Given the description of an element on the screen output the (x, y) to click on. 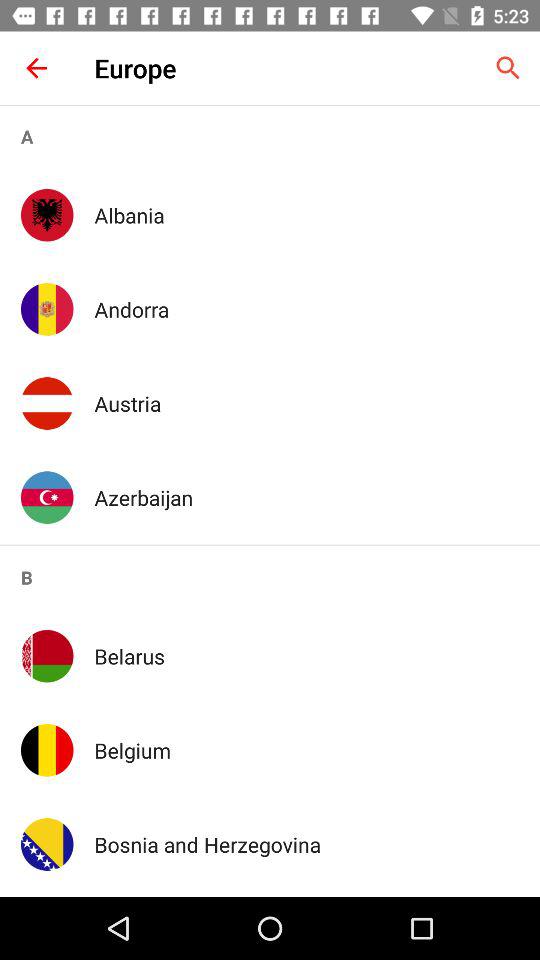
turn off the item to the left of europe item (36, 68)
